Given the description of an element on the screen output the (x, y) to click on. 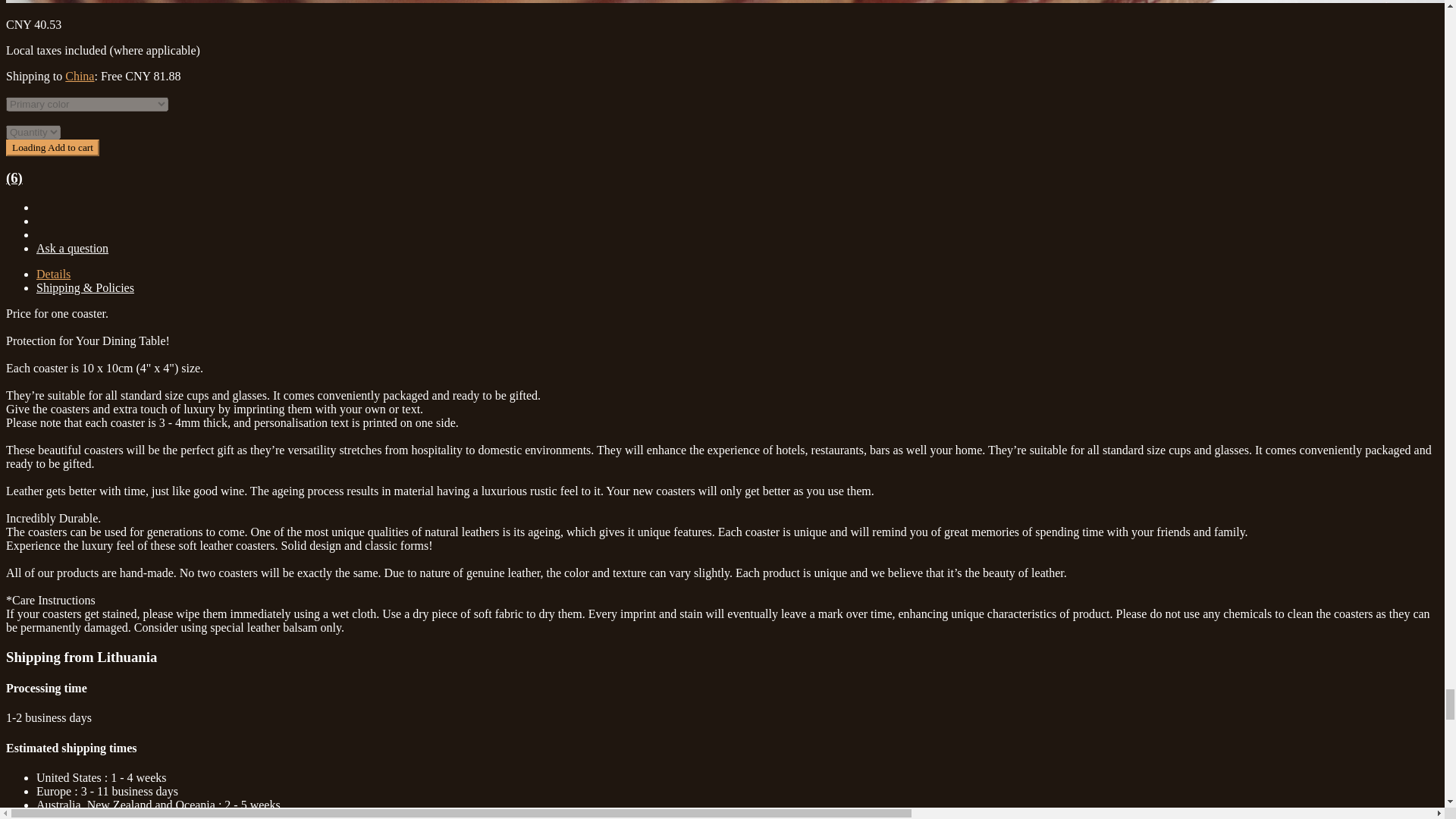
Ask a question (71, 247)
Details (52, 273)
Loading Add to cart (52, 147)
China (79, 75)
